Given the description of an element on the screen output the (x, y) to click on. 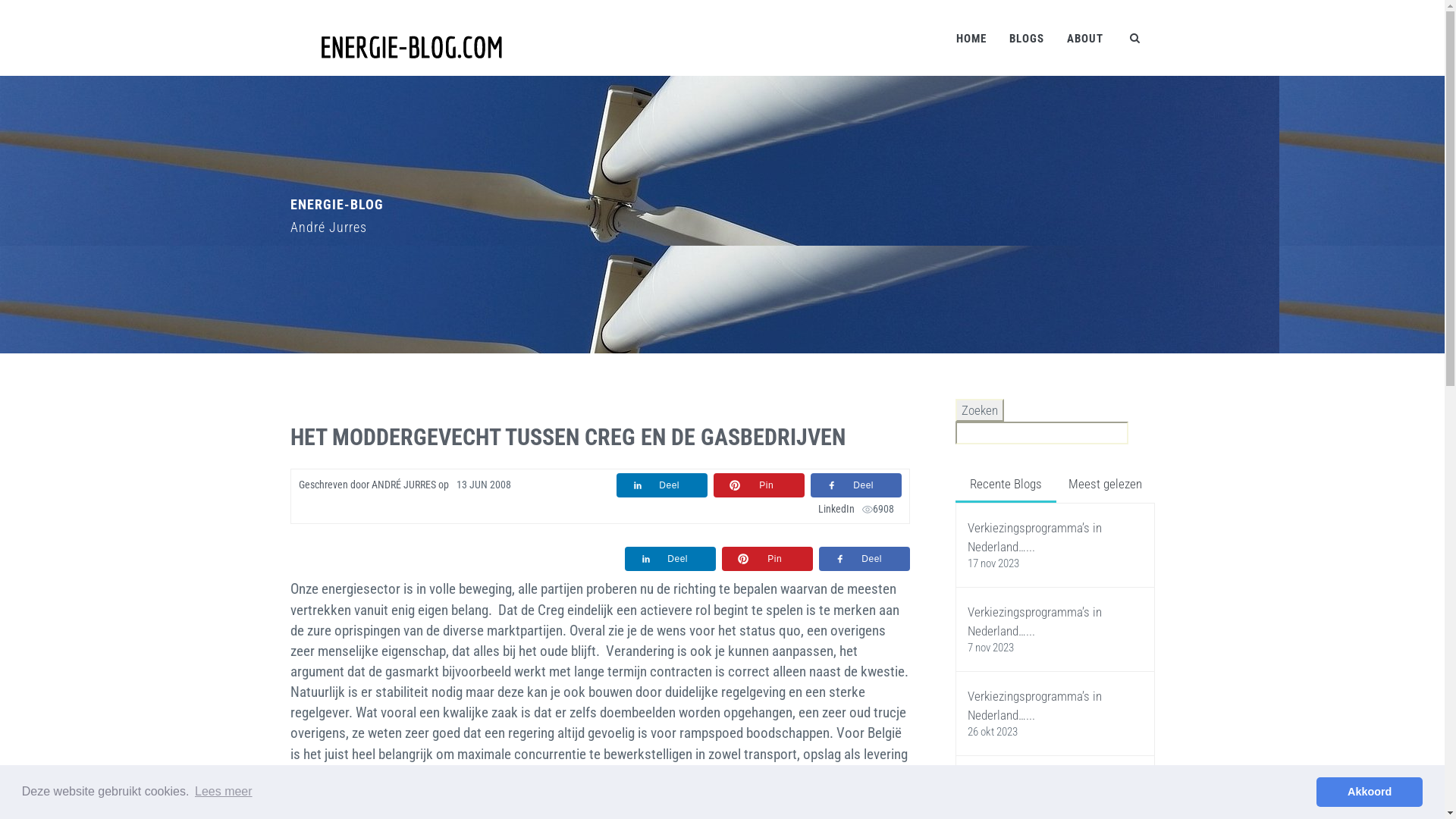
HOME Element type: text (970, 37)
ABOUT Element type: text (1084, 37)
Recente Blogs Element type: text (1005, 484)
BLOGS Element type: text (1026, 37)
LinkedIn Element type: text (836, 508)
Lees meer Element type: text (223, 791)
Akkoord Element type: text (1369, 791)
Zoeken Element type: text (979, 409)
HET MODDERGEVECHT TUSSEN CREG EN DE GASBEDRIJVEN Element type: text (566, 436)
Meest gelezen Element type: text (1105, 483)
